Given the description of an element on the screen output the (x, y) to click on. 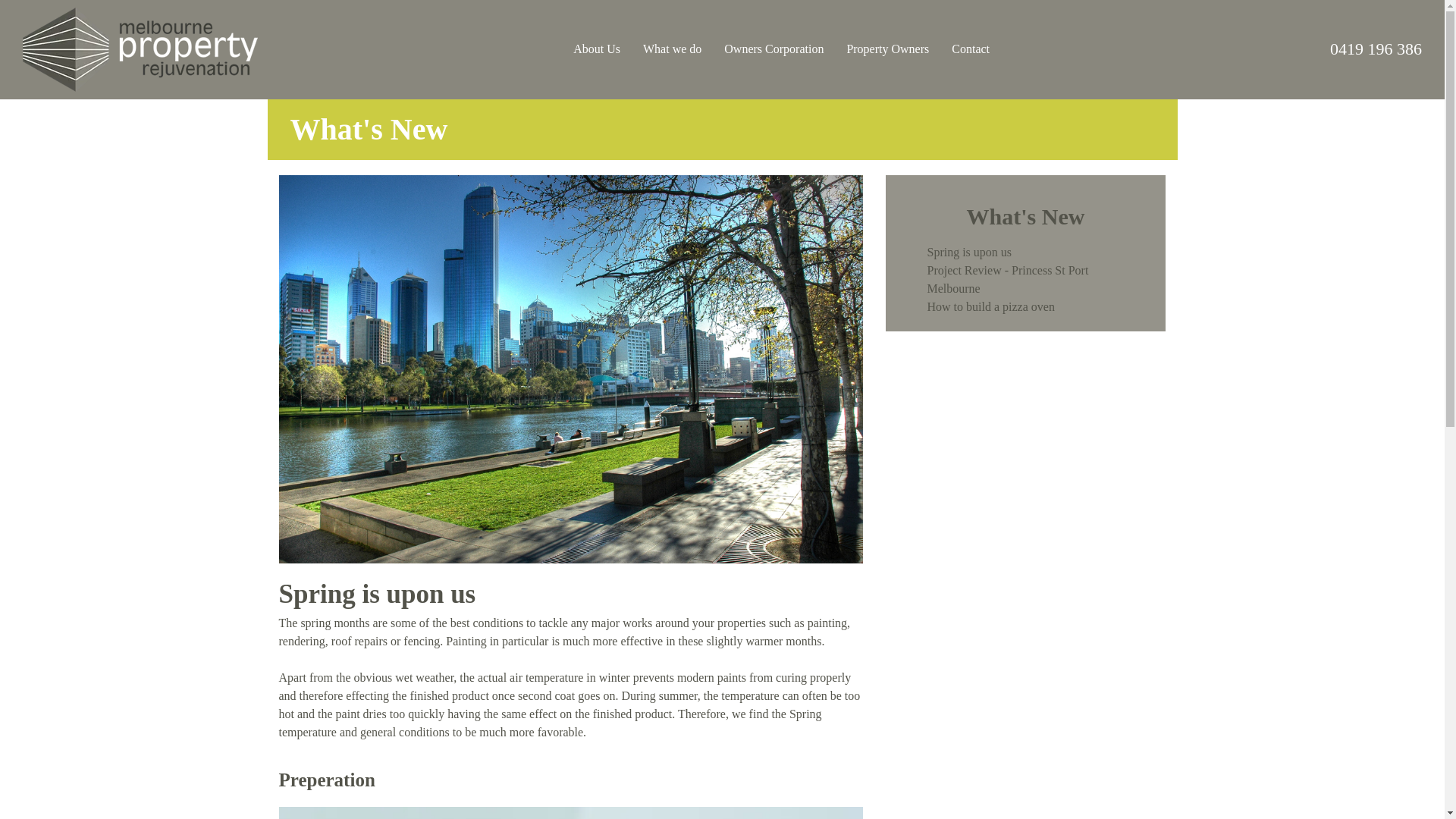
Contact (970, 49)
About Us (596, 49)
Owners Corporation (773, 49)
How to build a pizza oven (990, 306)
What we do (672, 49)
0419 196 386 (1376, 48)
Property Owners (887, 49)
Project Review - Princess St Port Melbourne (1006, 278)
Spring is upon us (968, 251)
